Given the description of an element on the screen output the (x, y) to click on. 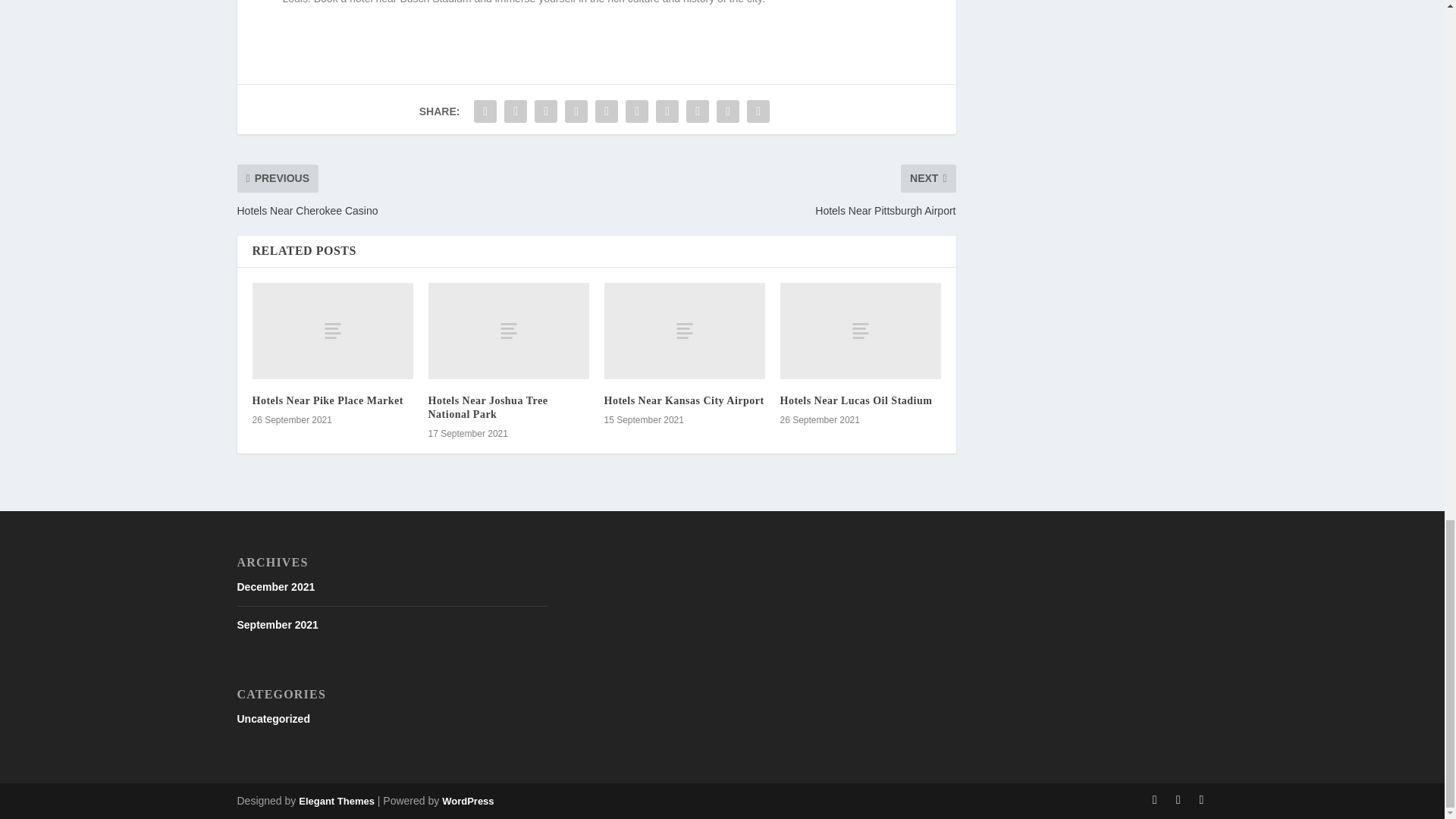
WordPress (467, 800)
September 2021 (276, 624)
Share "Hotels Near Busch Stadium" via Print (757, 111)
Hotels Near Kansas City Airport (683, 400)
Share "Hotels Near Busch Stadium" via Pinterest (606, 111)
Uncategorized (271, 718)
Hotels Near Pike Place Market (331, 330)
Share "Hotels Near Busch Stadium" via Buffer (667, 111)
December 2021 (274, 586)
Share "Hotels Near Busch Stadium" via Stumbleupon (697, 111)
